Given the description of an element on the screen output the (x, y) to click on. 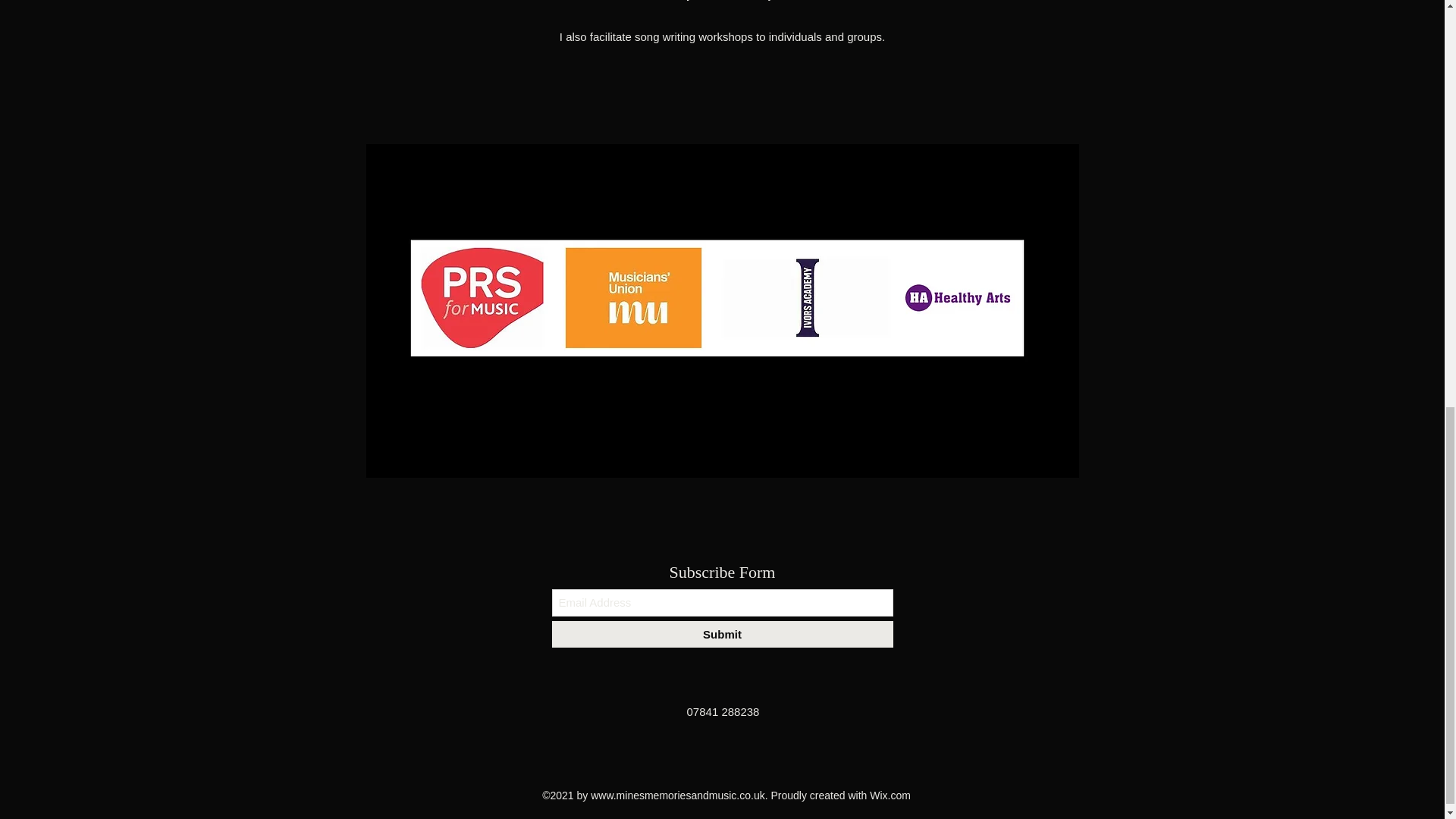
Submit (722, 633)
www.minesmemoriesandmusic.co.uk (678, 795)
